Given the description of an element on the screen output the (x, y) to click on. 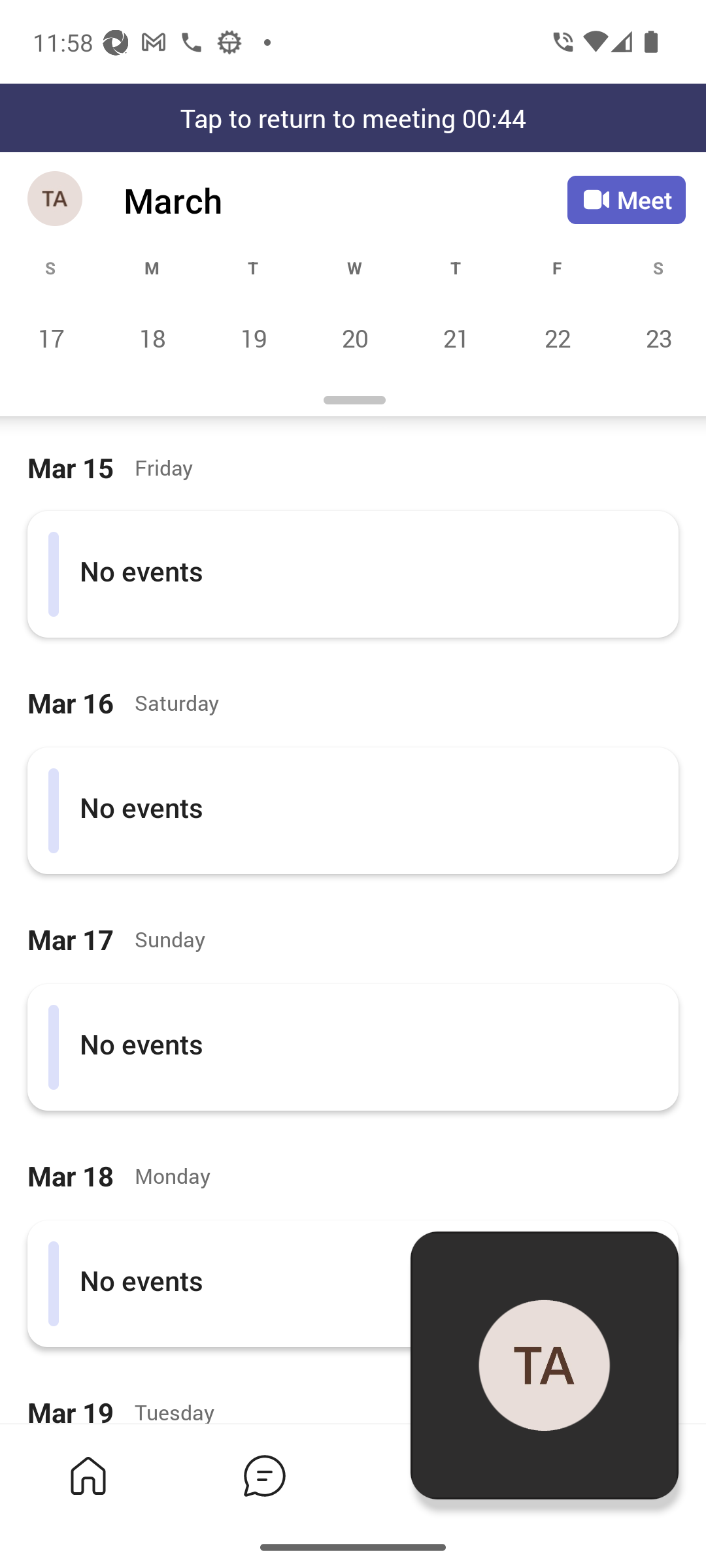
Tap to return to meeting 00:44 (353, 117)
Navigation (56, 199)
Meet Meet now or join with an ID (626, 199)
March March Calendar Agenda View (345, 199)
Sunday, March 17 17 (50, 337)
Monday, March 18 18 (151, 337)
Tuesday, March 19 19 (253, 337)
Wednesday, March 20 20 (354, 337)
Thursday, March 21 21 (455, 337)
Friday, March 22 22 (556, 337)
Saturday, March 23 23 (656, 337)
Home tab,1 of 4, not selected (88, 1475)
Chat tab,2 of 4, not selected (264, 1475)
